Given the description of an element on the screen output the (x, y) to click on. 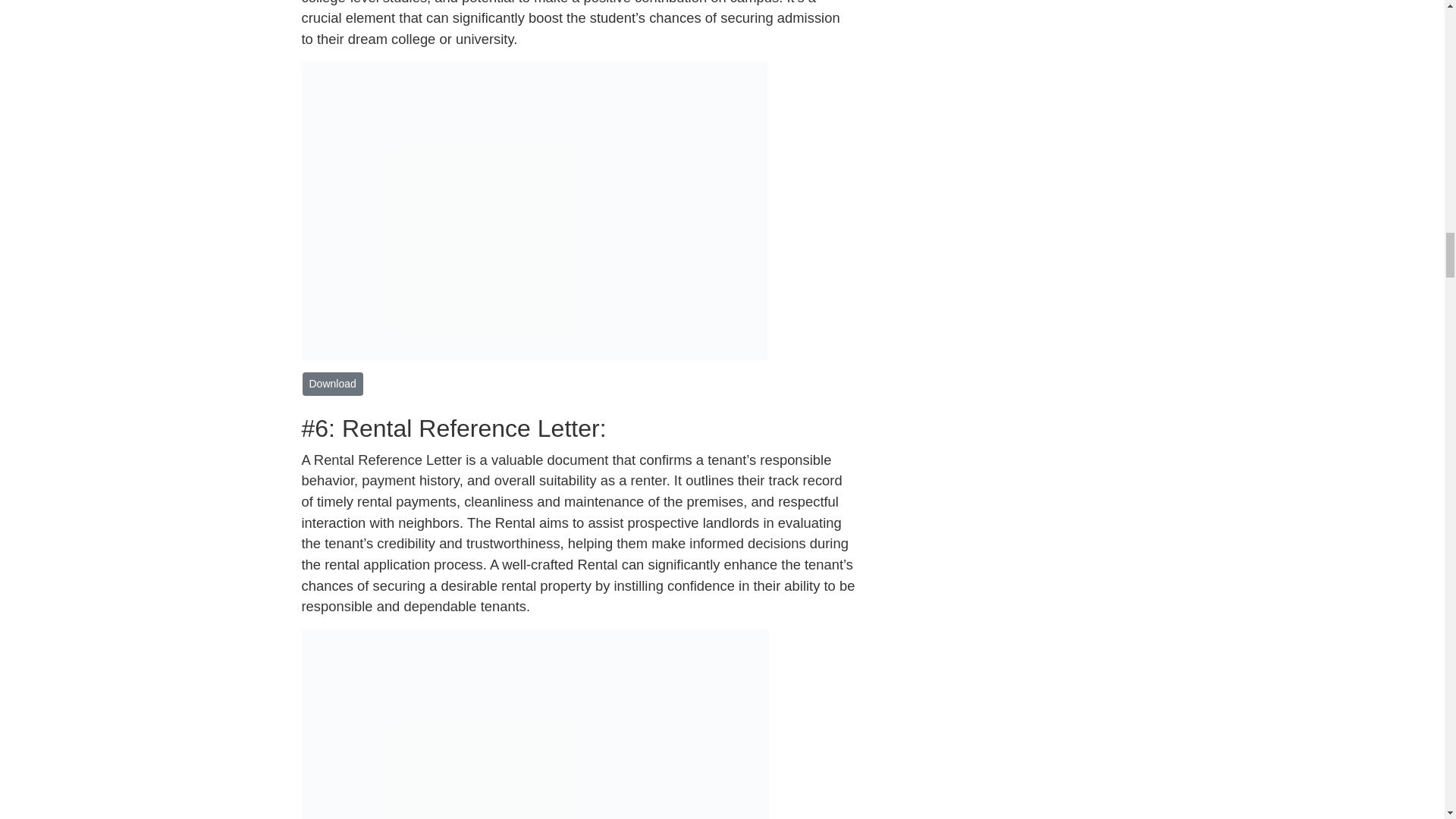
Download (331, 383)
